Given the description of an element on the screen output the (x, y) to click on. 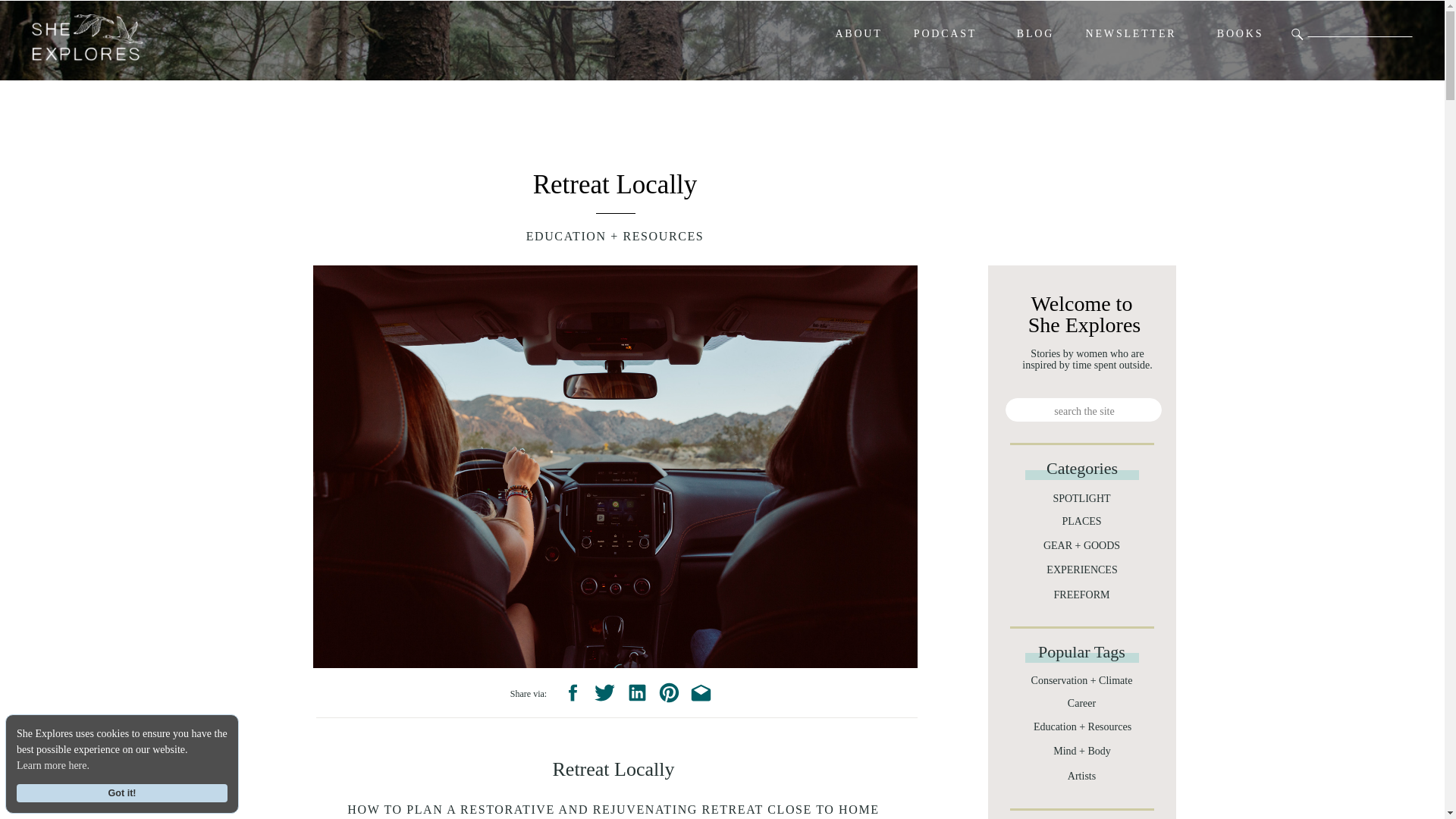
Learn more here. (52, 765)
BLOG (1035, 34)
BOOKS (1239, 34)
Career (1082, 703)
EXPERIENCES (1082, 570)
Artists (1080, 776)
ABOUT (858, 34)
FREEFORM (1080, 595)
Got it! (121, 792)
PODCAST (945, 34)
